Given the description of an element on the screen output the (x, y) to click on. 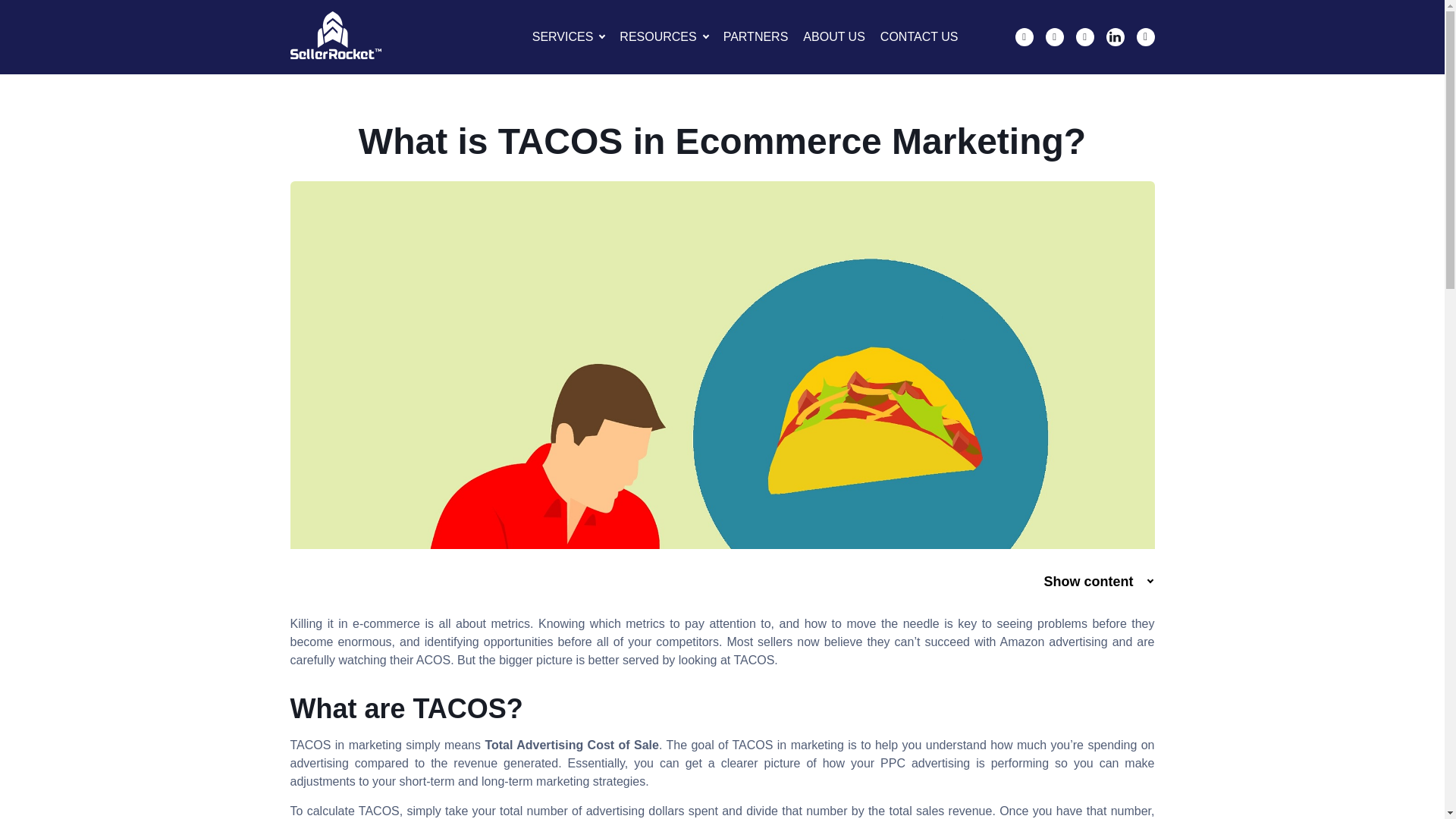
PARTNERS (756, 36)
SERVICES (563, 36)
RESOURCES (657, 36)
Show content (1096, 581)
ABOUT US (833, 36)
CONTACT US (919, 36)
